Given the description of an element on the screen output the (x, y) to click on. 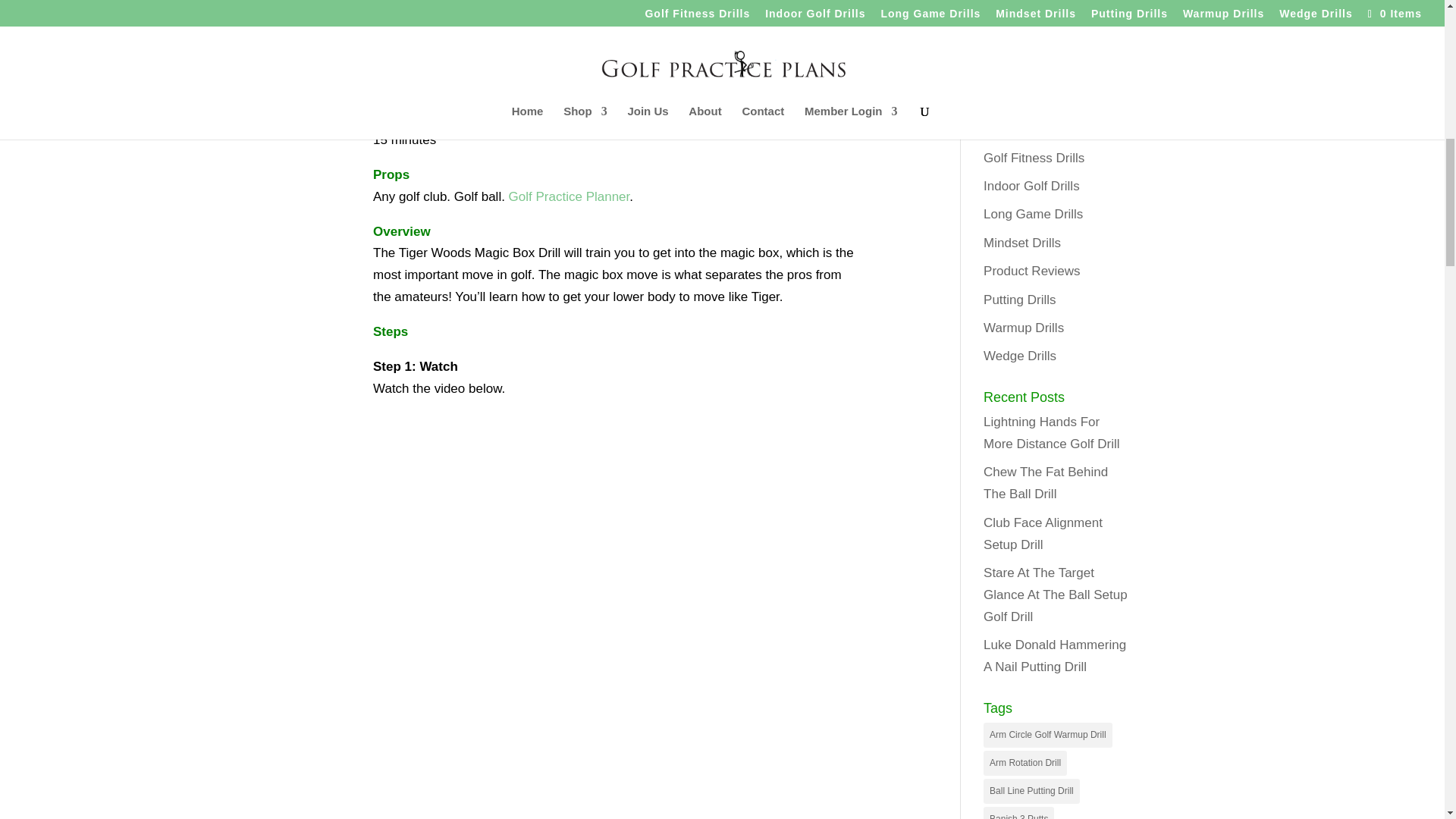
Search (1106, 60)
